Given the description of an element on the screen output the (x, y) to click on. 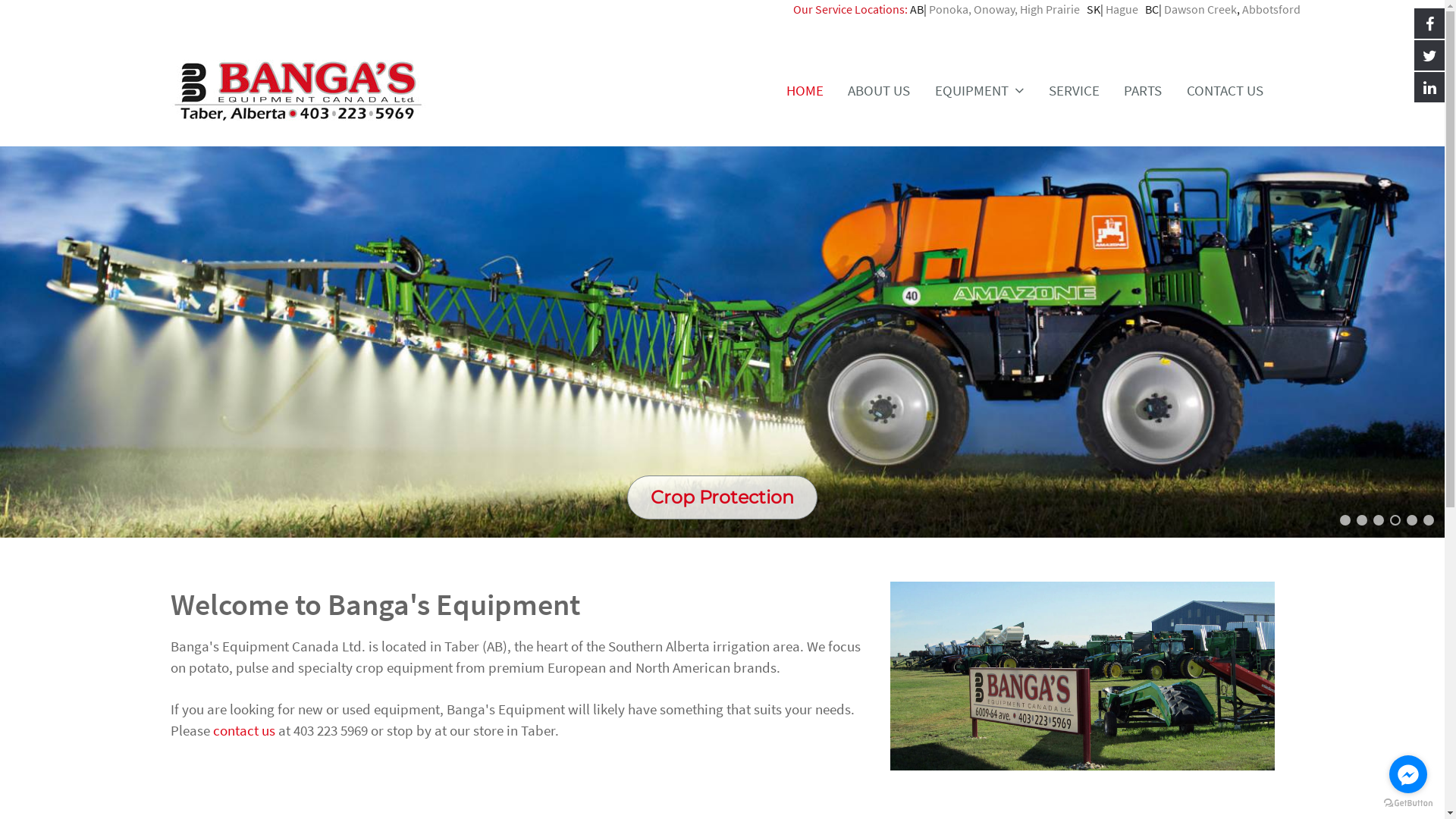
Crop Protection Element type: text (722, 522)
Our Service Locations: Element type: text (850, 8)
PARTS Element type: text (1142, 89)
SERVICE Element type: text (1073, 89)
HOME Element type: text (804, 89)
ABOUT US Element type: text (879, 89)
contact us Element type: text (243, 730)
CONTACT US Element type: text (1224, 89)
